Given the description of an element on the screen output the (x, y) to click on. 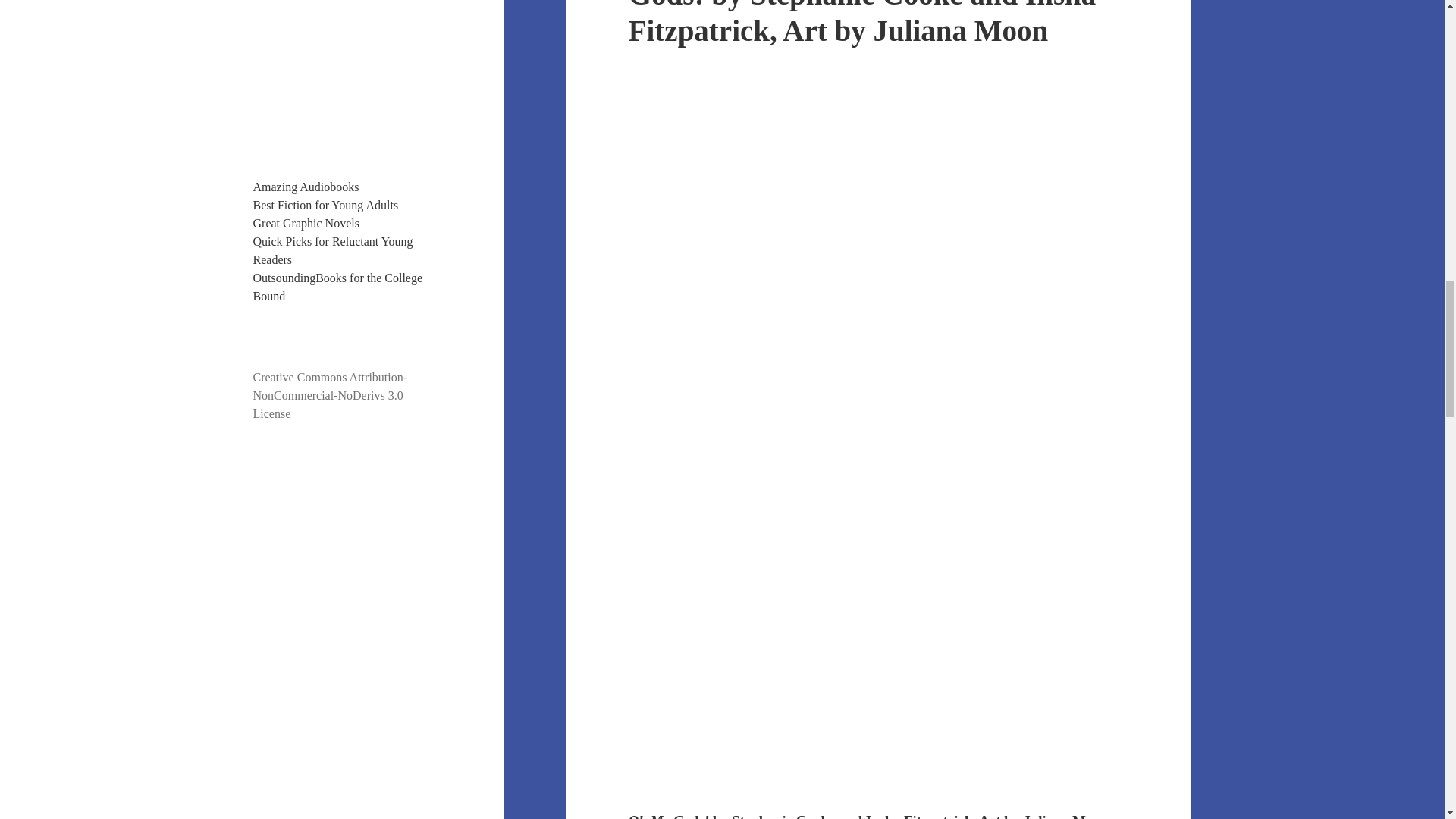
OutsoundingBooks for the College Bound (338, 286)
Quick Picks for Reluctant Young Readers (333, 250)
Best Fiction for Young Adults (325, 205)
Amazing Audiobooks (306, 186)
Great Graphic Novels (306, 223)
